Given the description of an element on the screen output the (x, y) to click on. 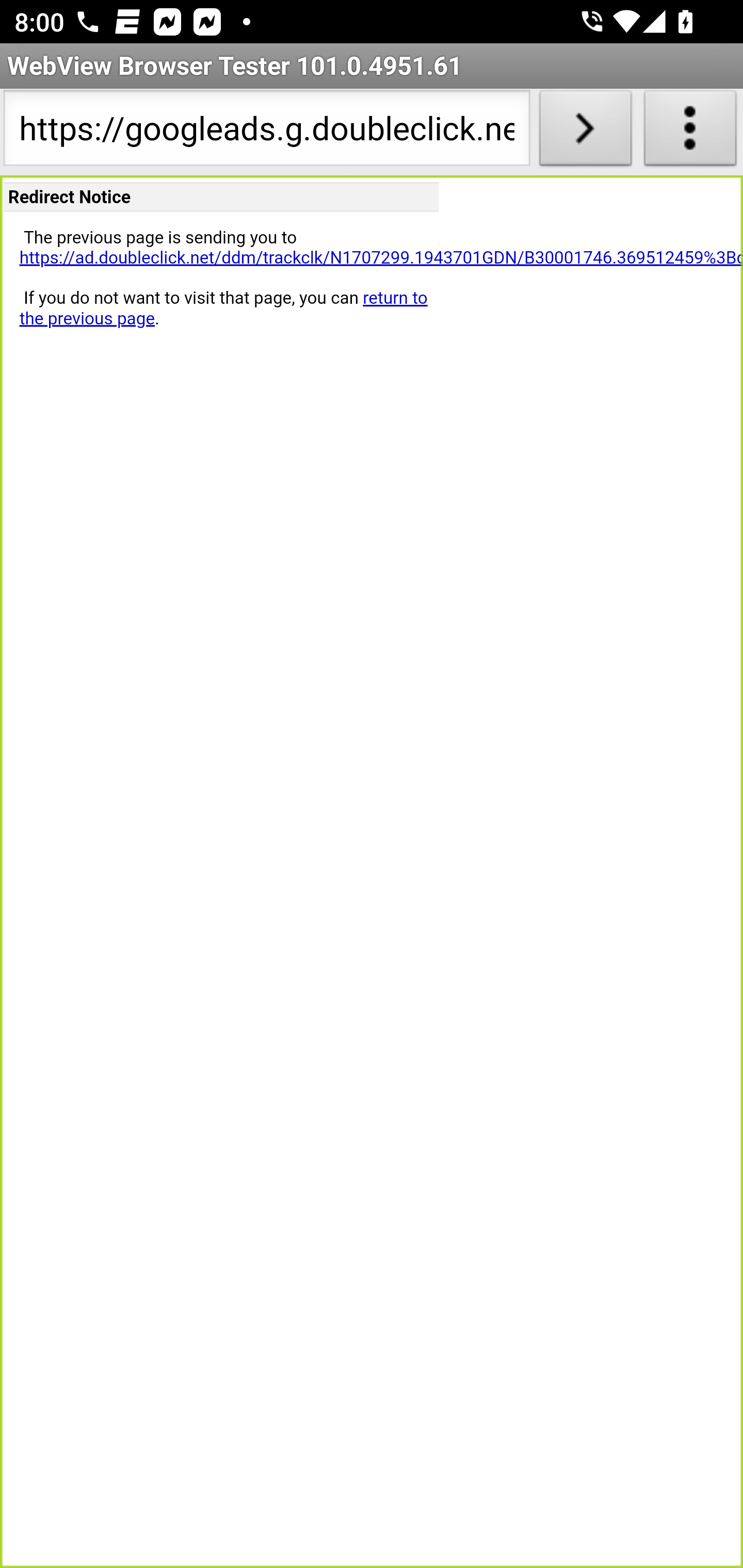
Load URL (585, 132)
About WebView (690, 132)
return to the previous page (222, 307)
